Given the description of an element on the screen output the (x, y) to click on. 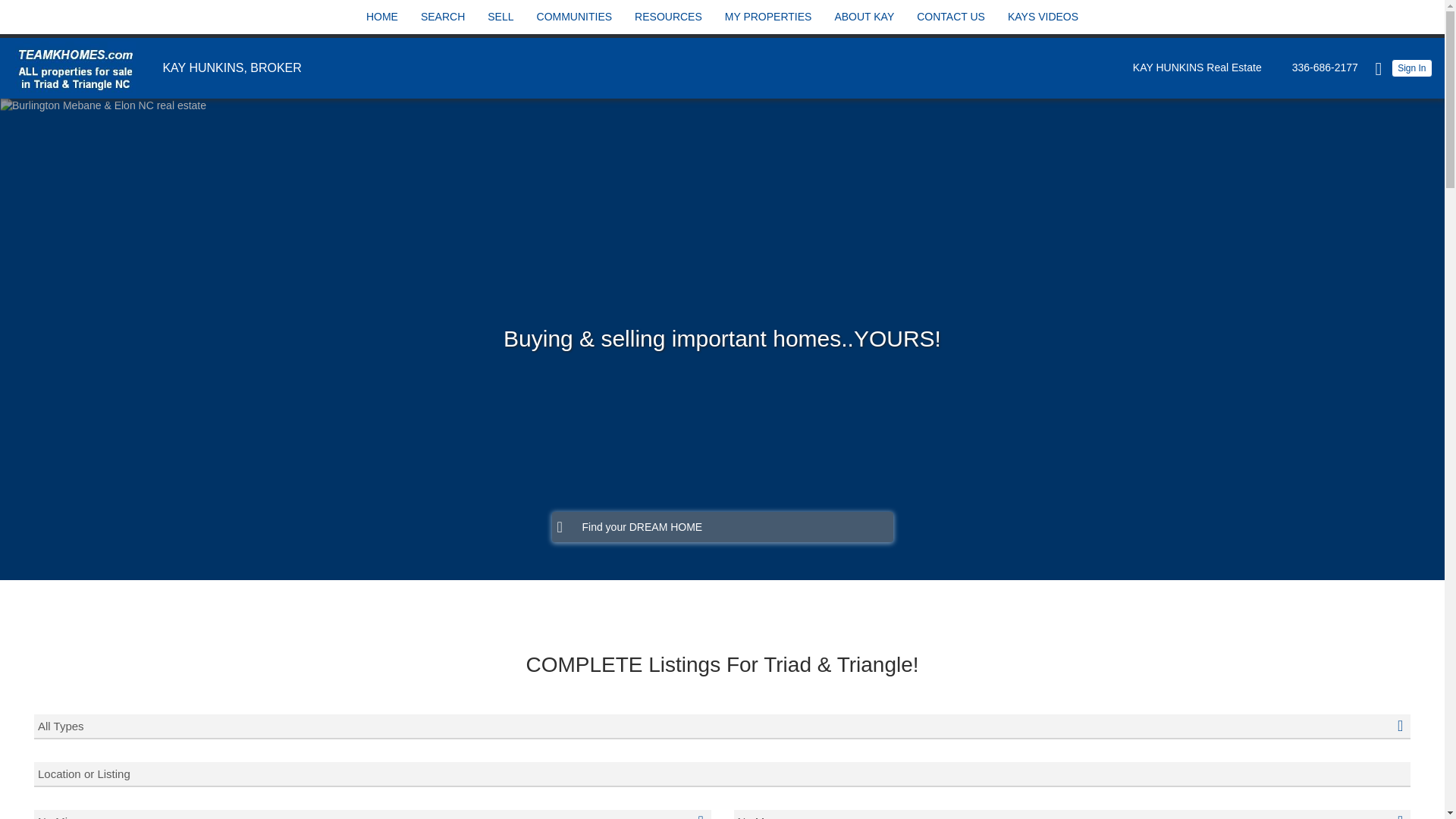
MY PROPERTIES (767, 17)
SELL (499, 17)
CONTACT US (950, 17)
RESOURCES (668, 17)
ABOUT KAY (863, 17)
Sign In (1411, 67)
HOME (381, 17)
COMMUNITIES (573, 17)
336-686-2177 (1321, 67)
KAYS VIDEOS (1042, 17)
